Given the description of an element on the screen output the (x, y) to click on. 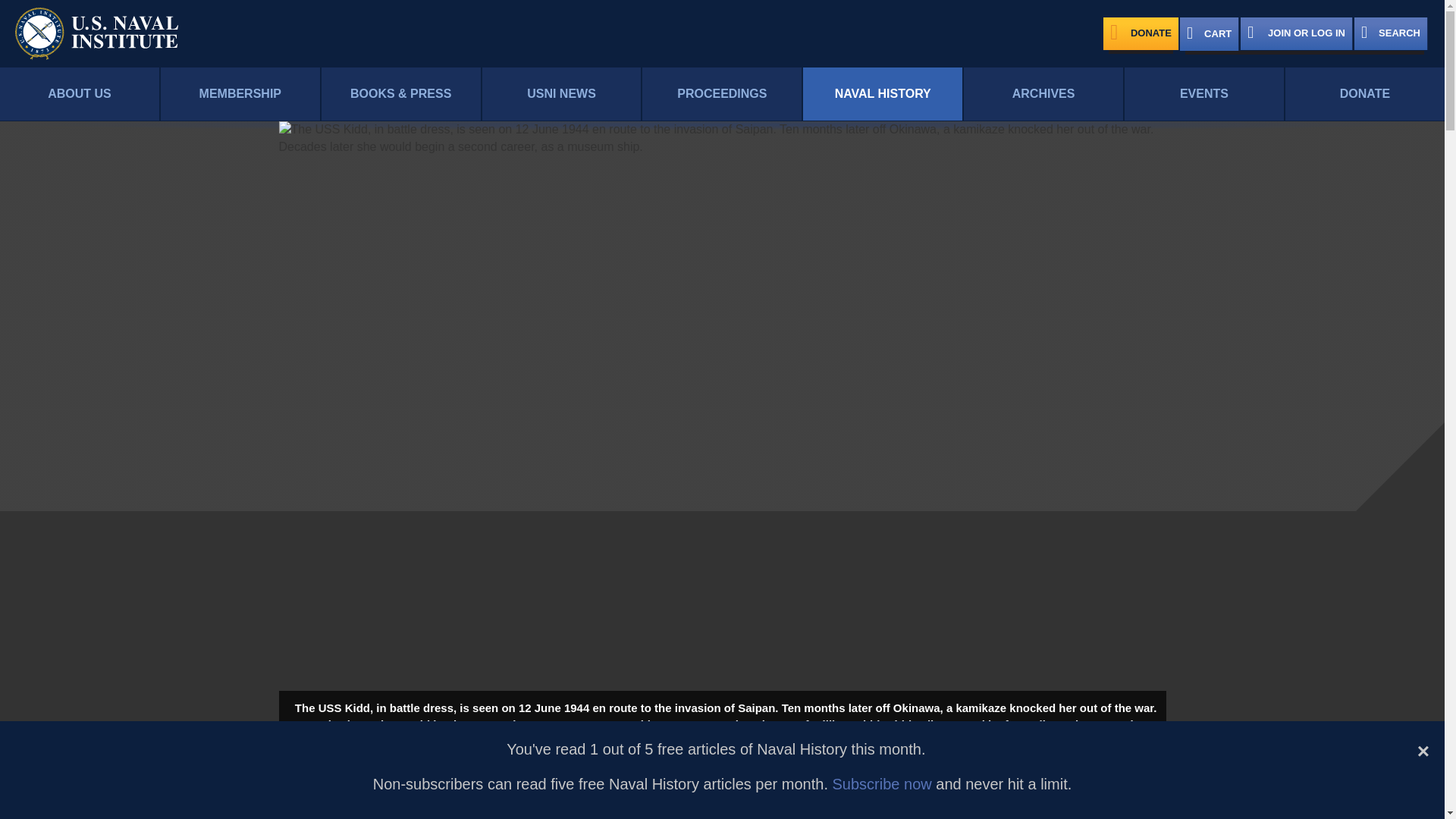
USNI NEWS (561, 94)
SEARCH (1391, 33)
MEMBERSHIP (240, 94)
ARCHIVES (1042, 94)
EVENTS (1204, 94)
DONATE (1141, 33)
NAVAL HISTORY (882, 94)
Submit to Naval History (795, 794)
DONATE (1364, 94)
JOIN OR LOG IN (1296, 33)
CART (1209, 33)
PROCEEDINGS (722, 94)
ABOUT US (79, 94)
